Given the description of an element on the screen output the (x, y) to click on. 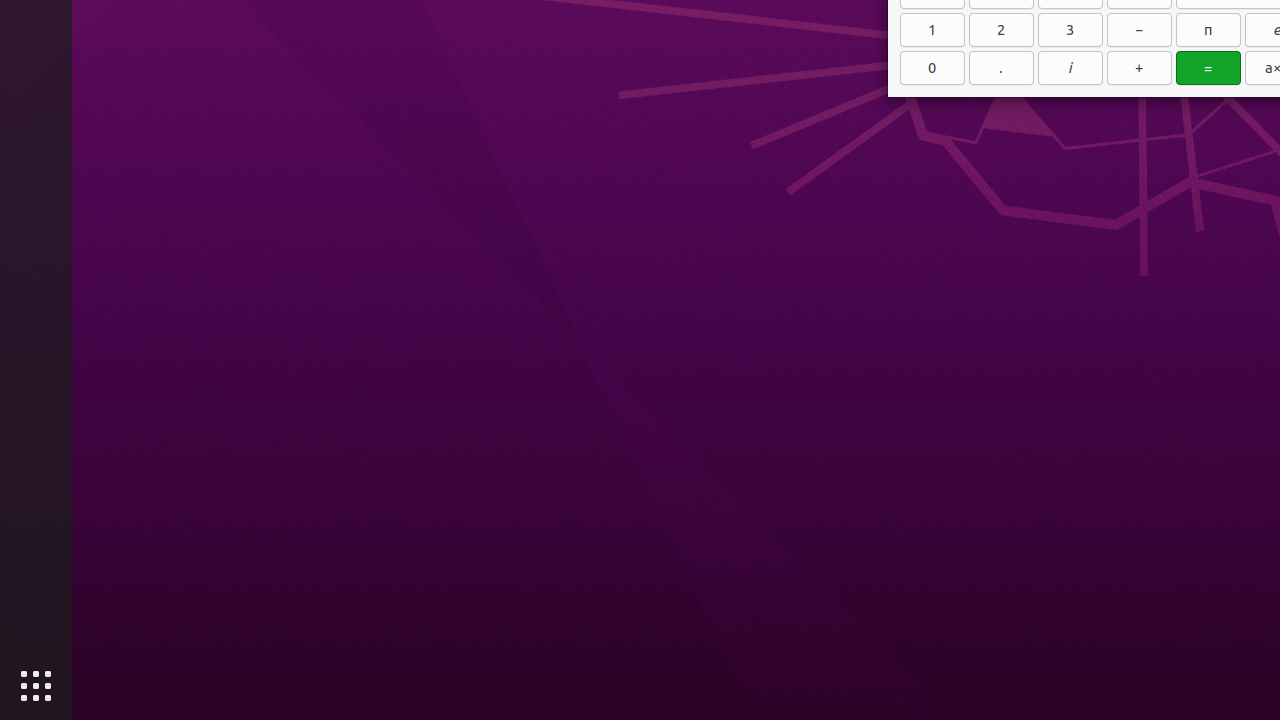
= Element type: push-button (1208, 68)
